Given the description of an element on the screen output the (x, y) to click on. 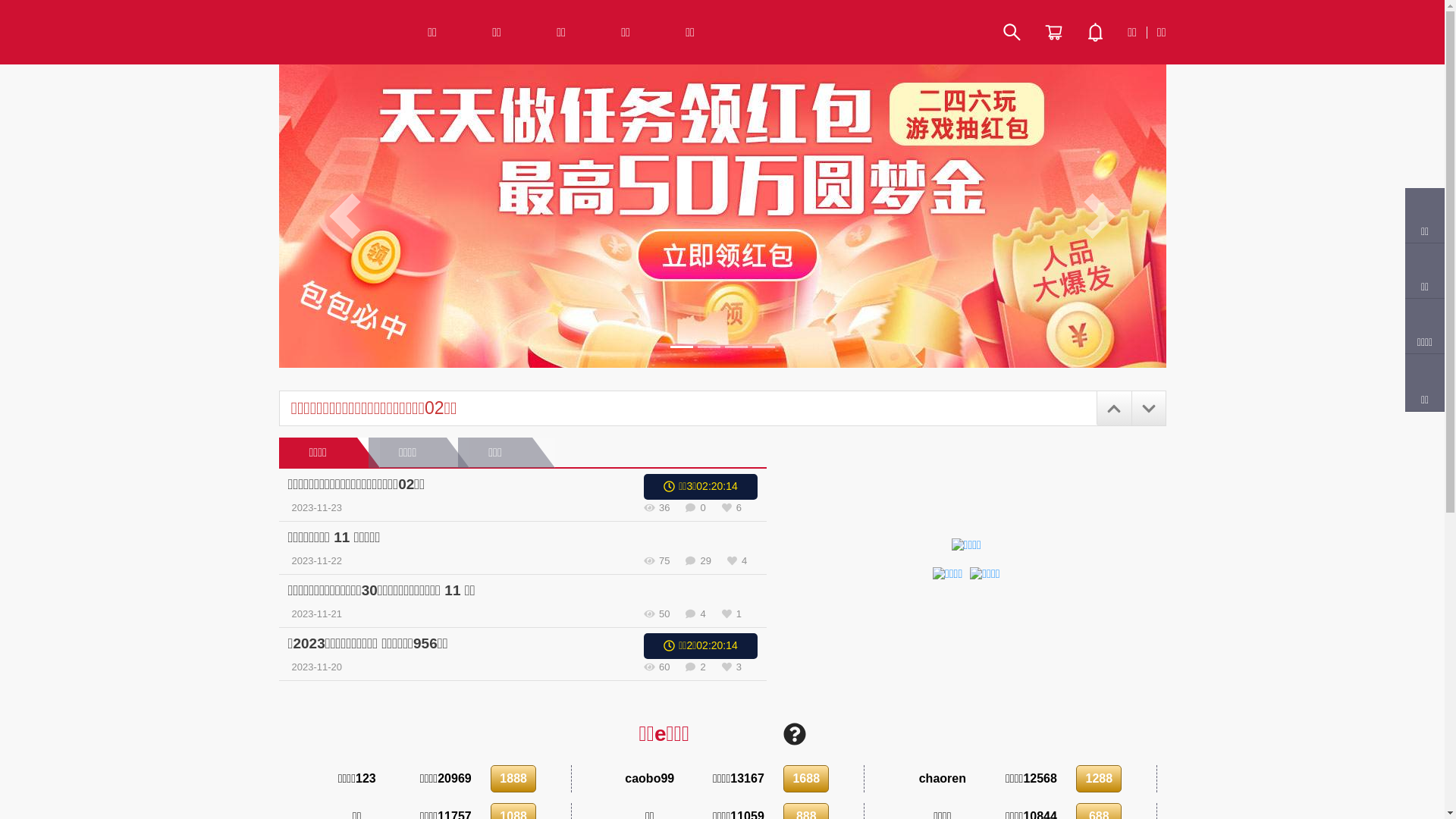
Next Element type: text (1099, 215)
Previous Element type: text (345, 215)
